Given the description of an element on the screen output the (x, y) to click on. 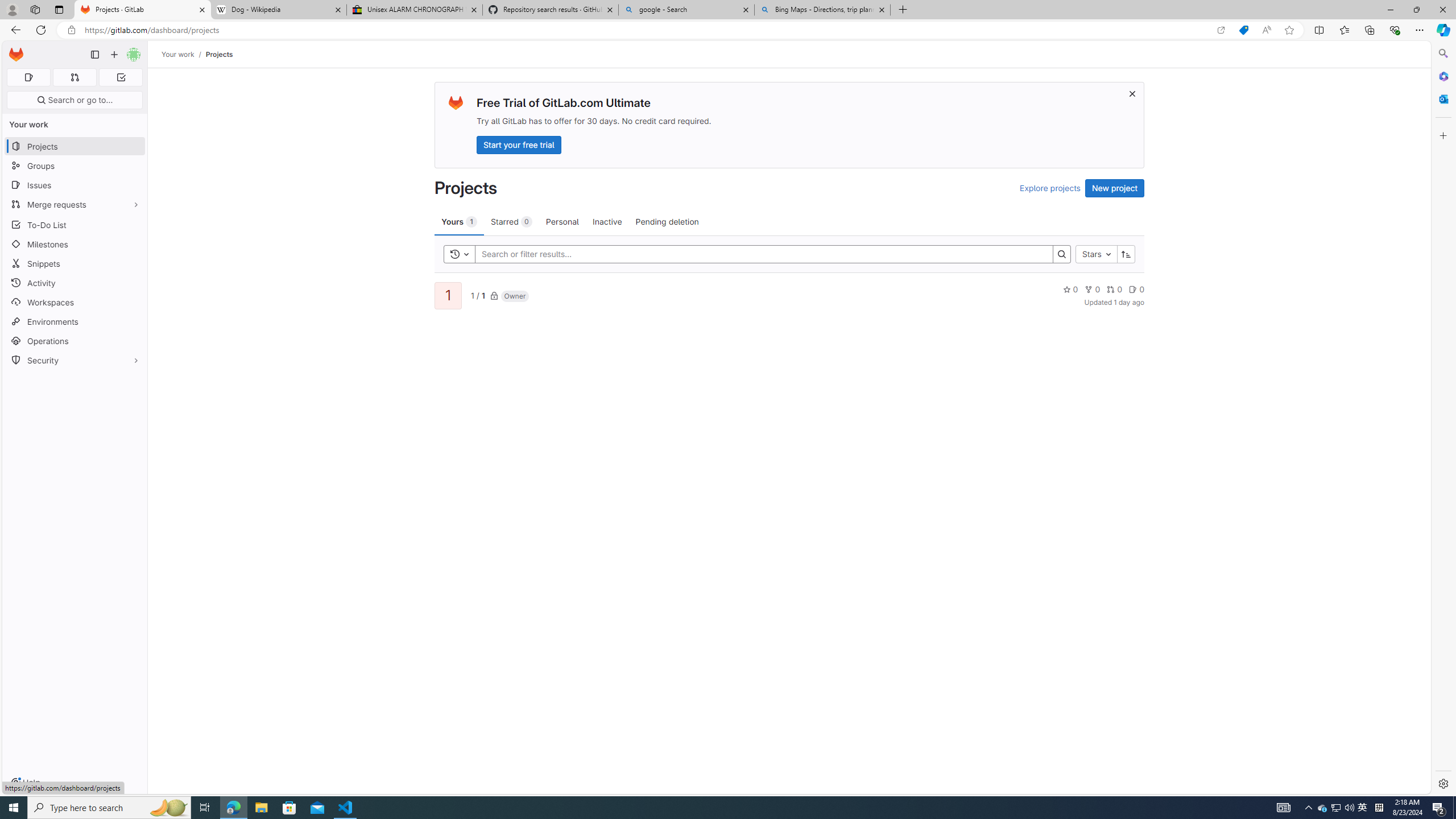
Inactive (606, 221)
